Given the description of an element on the screen output the (x, y) to click on. 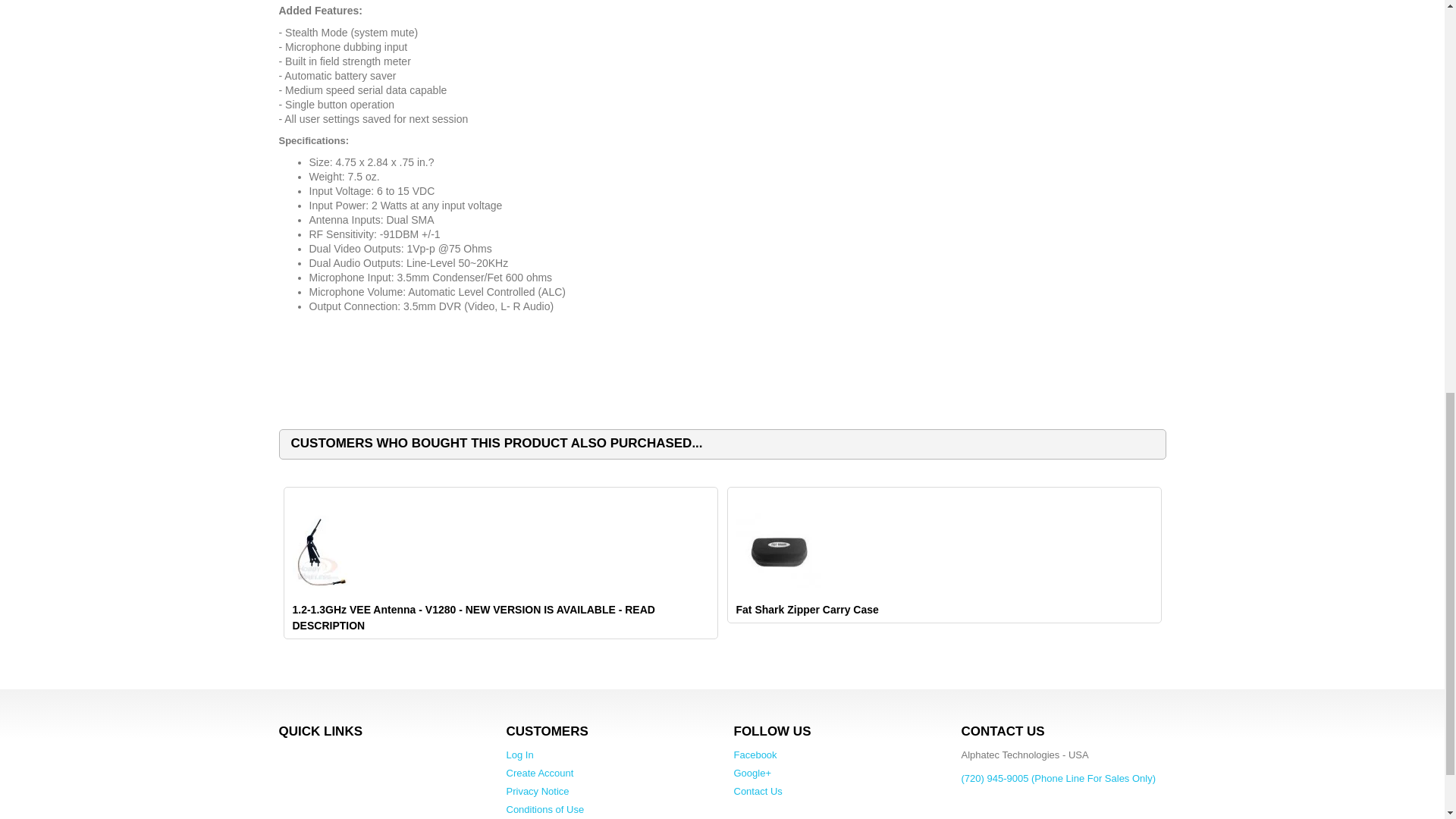
 Fat Shark Zipper Carry Case  (777, 550)
